Given the description of an element on the screen output the (x, y) to click on. 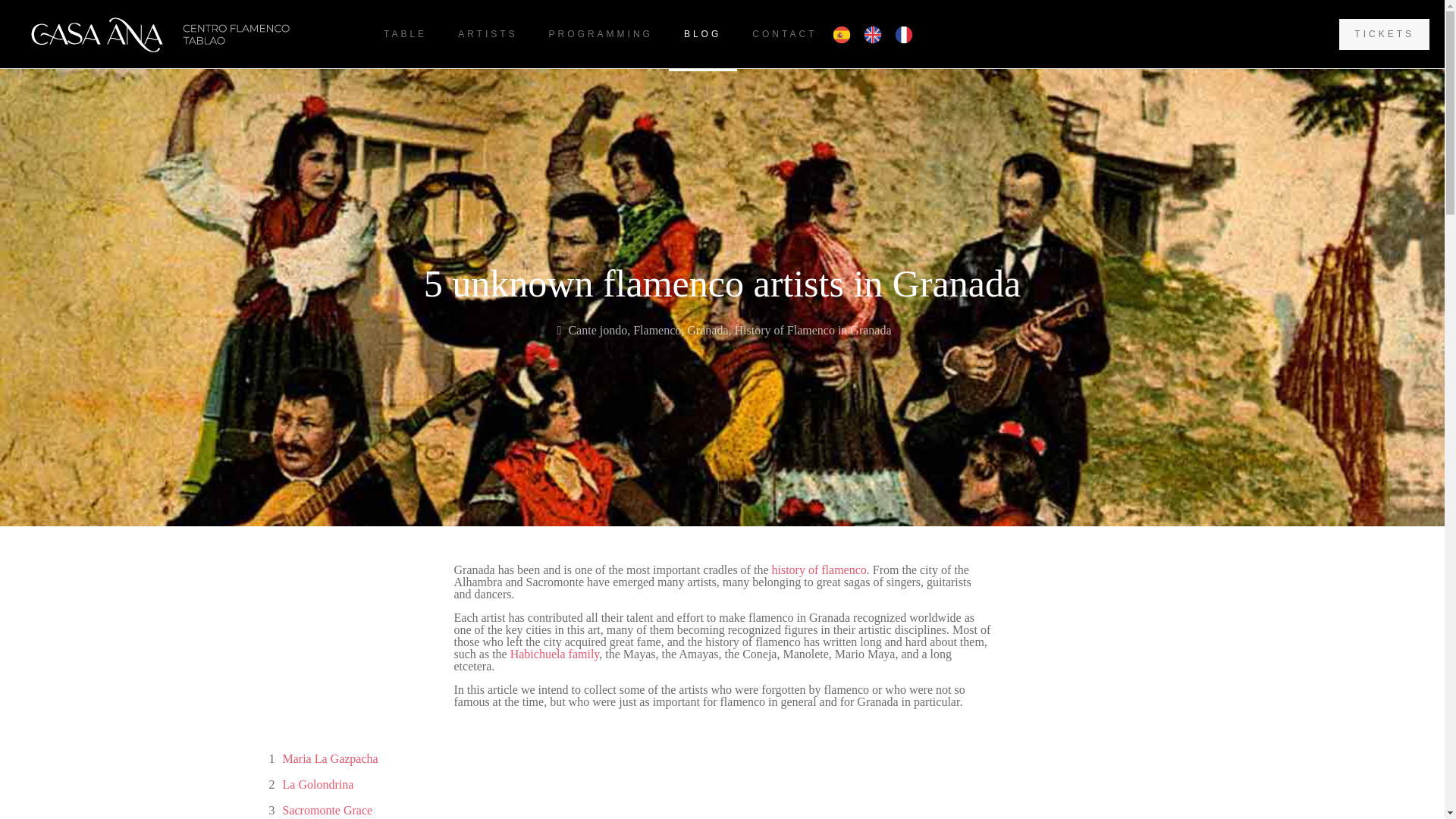
Granada (707, 329)
Flamenco (657, 329)
Flamenco Tablao in Granada - Casa Ana (180, 33)
La Golondrina (317, 784)
TICKETS (1384, 33)
Habichuela family (555, 653)
Maria La Gazpacha (329, 759)
PROGRAMMING (601, 33)
history of flamenco (818, 569)
History of Flamenco in Granada (812, 329)
